Given the description of an element on the screen output the (x, y) to click on. 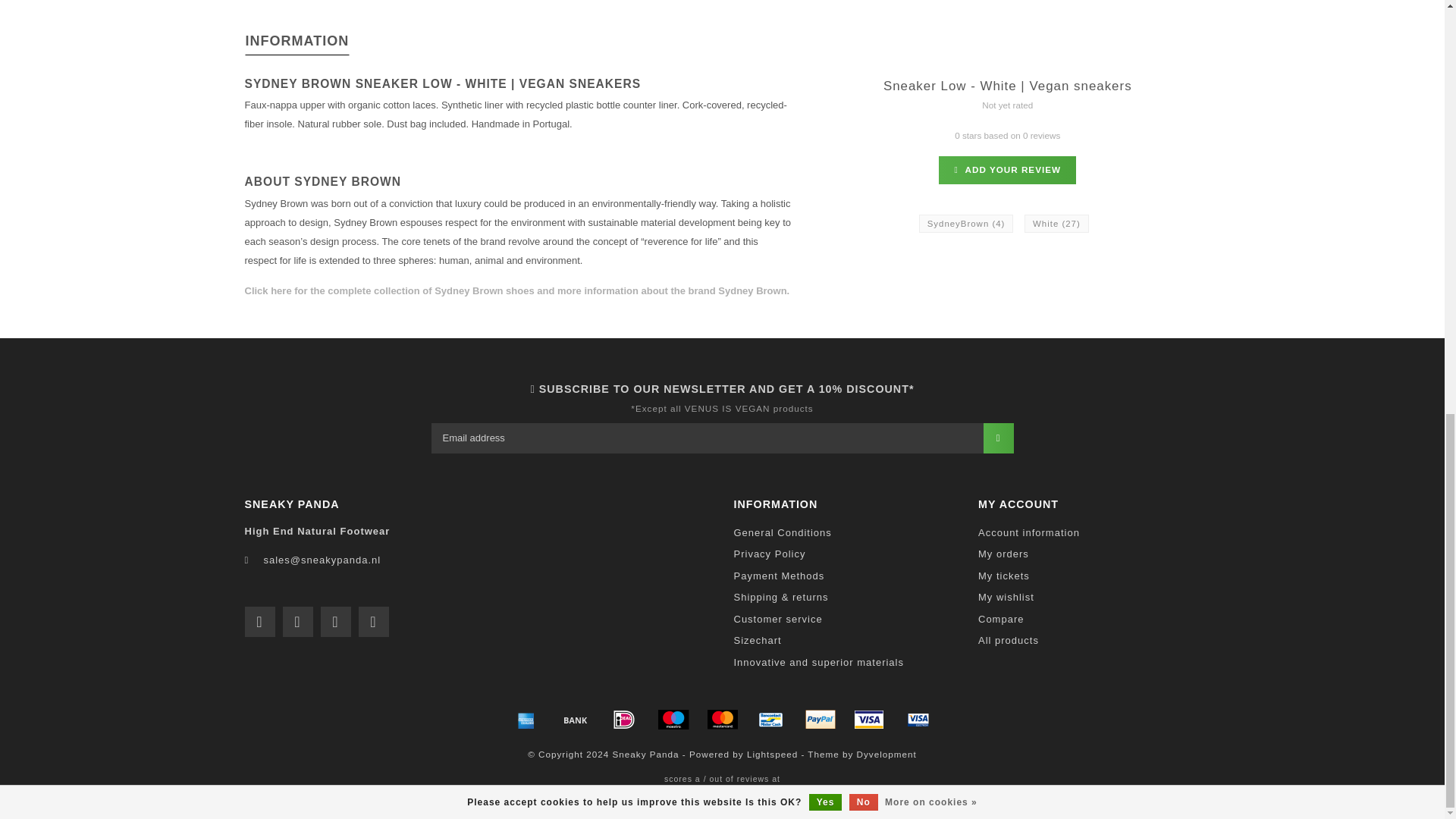
Add your review (1007, 170)
Privacy Policy (769, 554)
White (1057, 223)
SydneyBrown (965, 223)
General Conditions (782, 533)
Payment Methods  (779, 576)
